Given the description of an element on the screen output the (x, y) to click on. 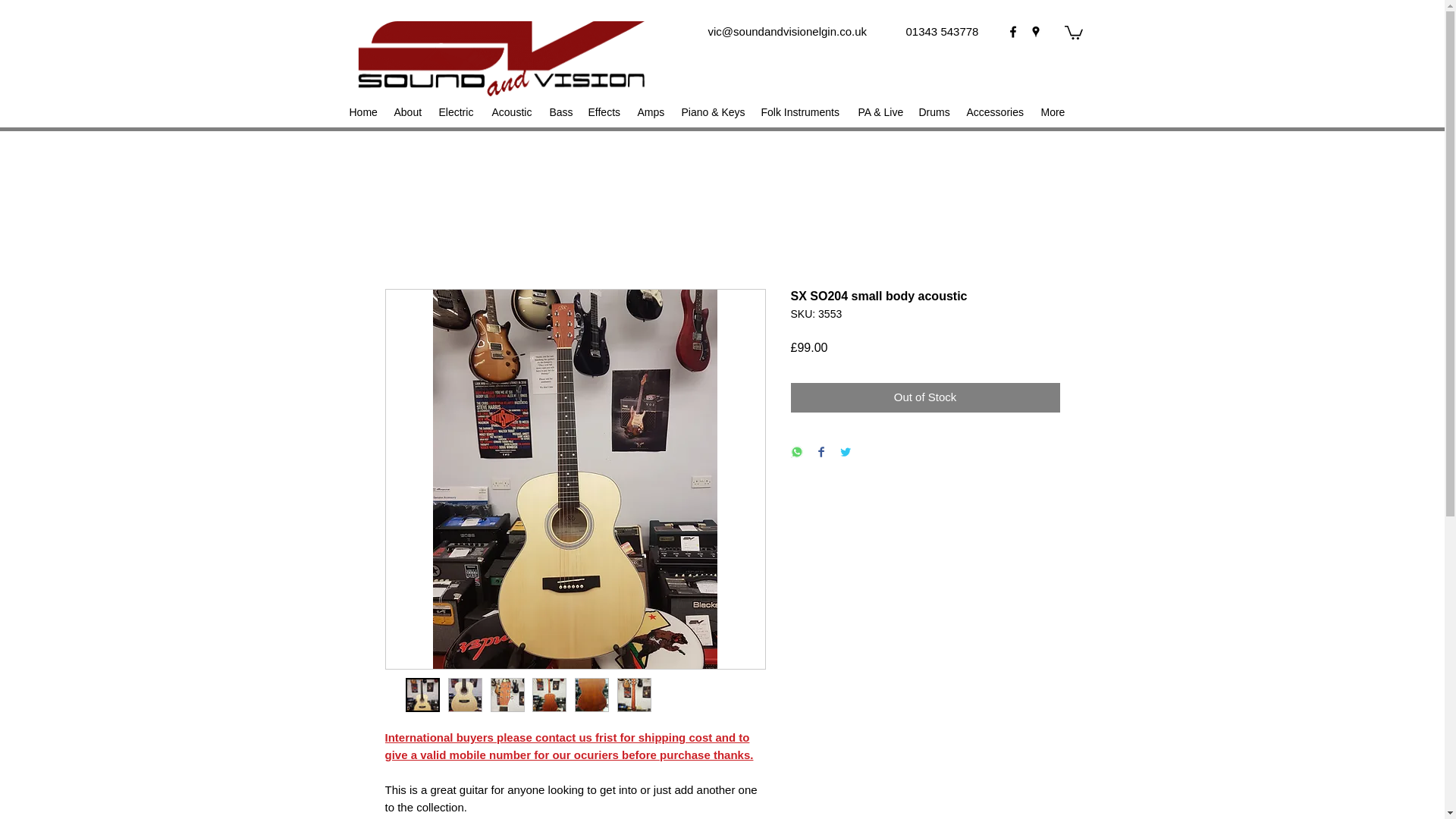
Electric (456, 111)
Drums (935, 111)
Out of Stock (924, 397)
Effects (605, 111)
Folk Instruments (802, 111)
Acoustic (512, 111)
Home (362, 111)
Accessories (995, 111)
Bass (560, 111)
About (408, 111)
